Given the description of an element on the screen output the (x, y) to click on. 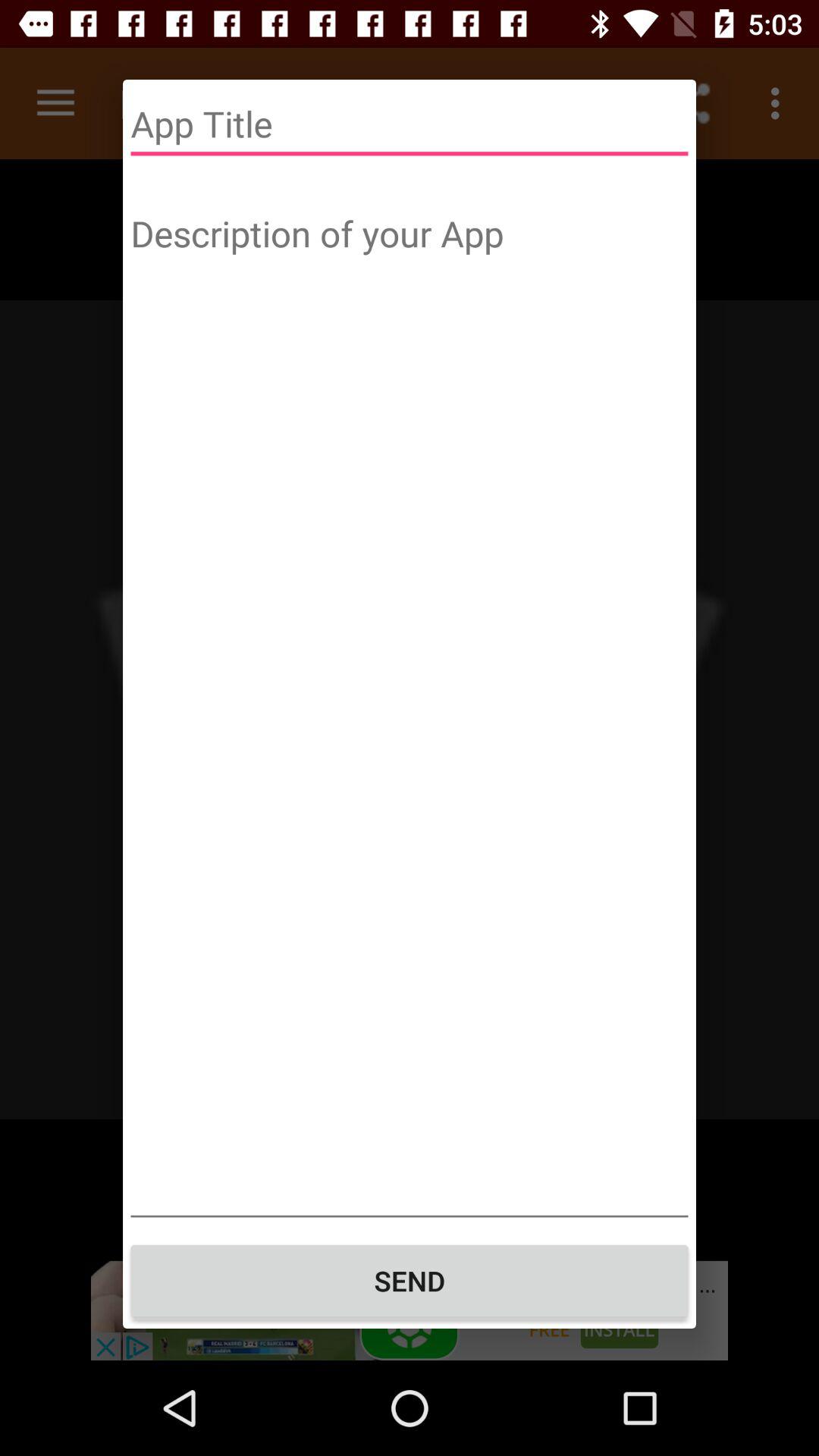
description of app (409, 711)
